Given the description of an element on the screen output the (x, y) to click on. 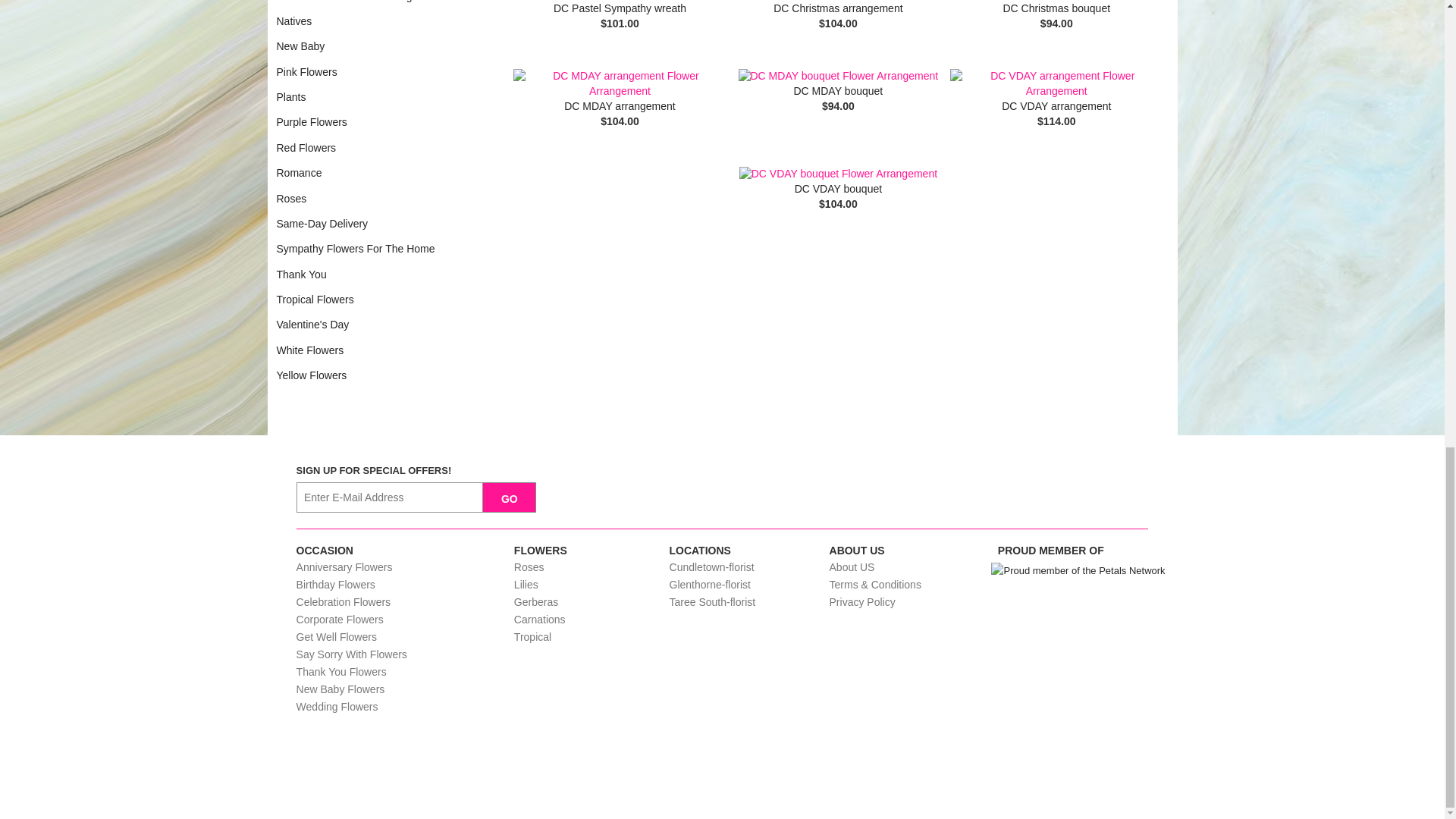
go (509, 497)
Email Sign up (390, 497)
Go (509, 497)
